Given the description of an element on the screen output the (x, y) to click on. 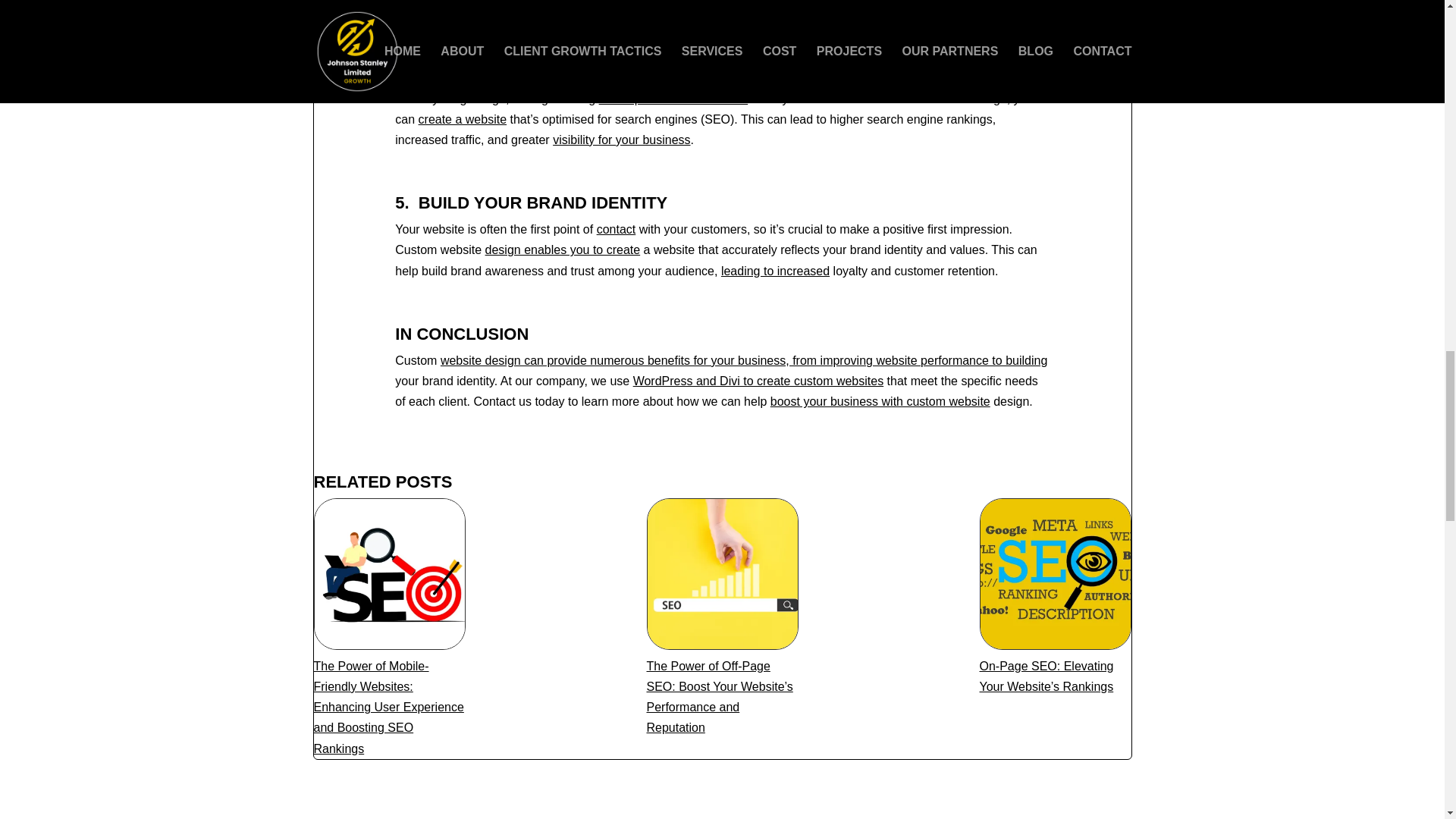
contact (616, 228)
visibility for your business (621, 139)
create a website (462, 119)
online presence is essential (673, 98)
design enables you to create (562, 249)
